Given the description of an element on the screen output the (x, y) to click on. 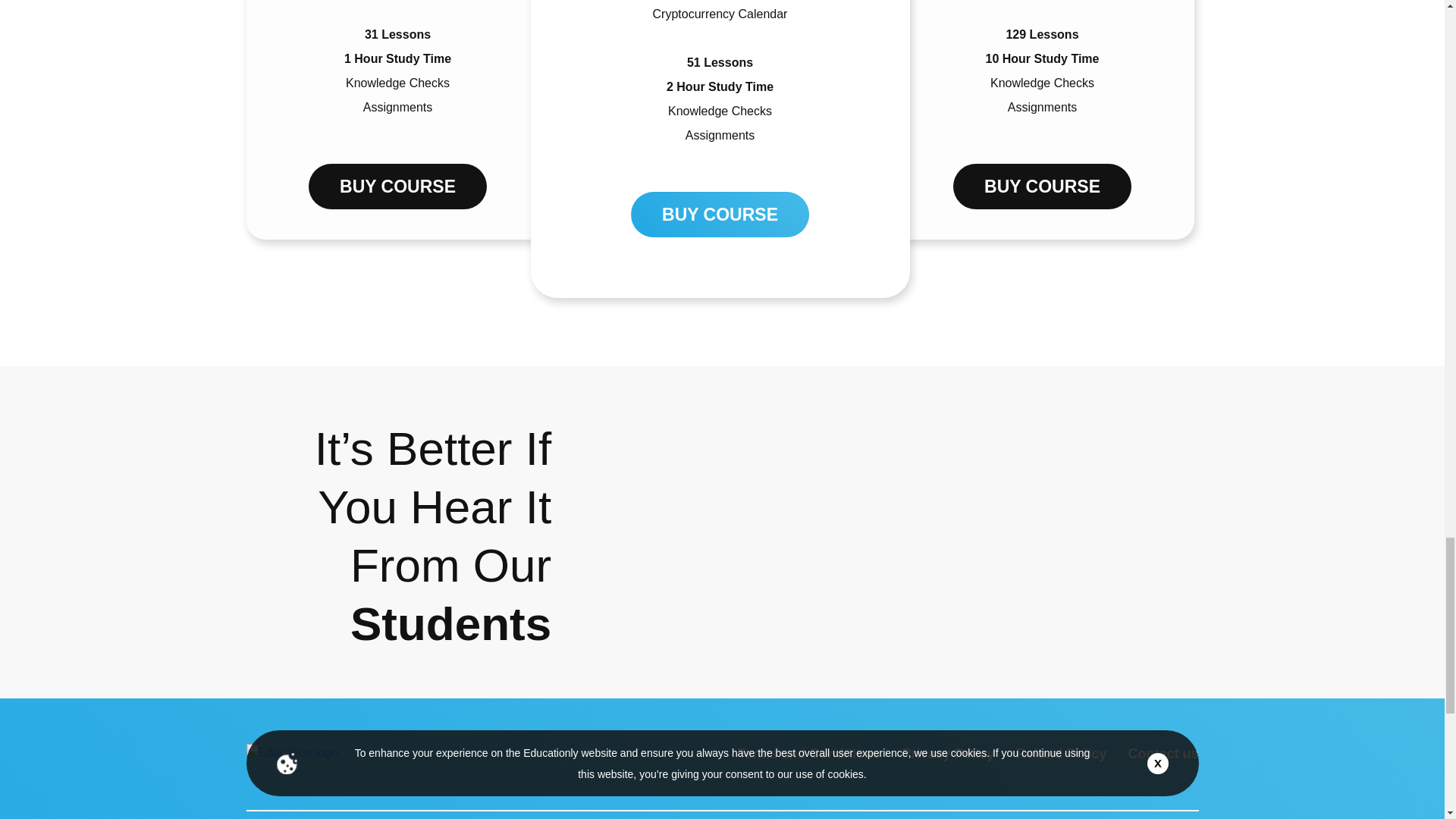
Contact us (1162, 753)
Terms and Conditions (809, 753)
BUY COURSE (1042, 186)
BUY COURSE (397, 186)
BUY COURSE (719, 213)
Refund Policy (1060, 753)
Privacy Policy (947, 753)
